Given the description of an element on the screen output the (x, y) to click on. 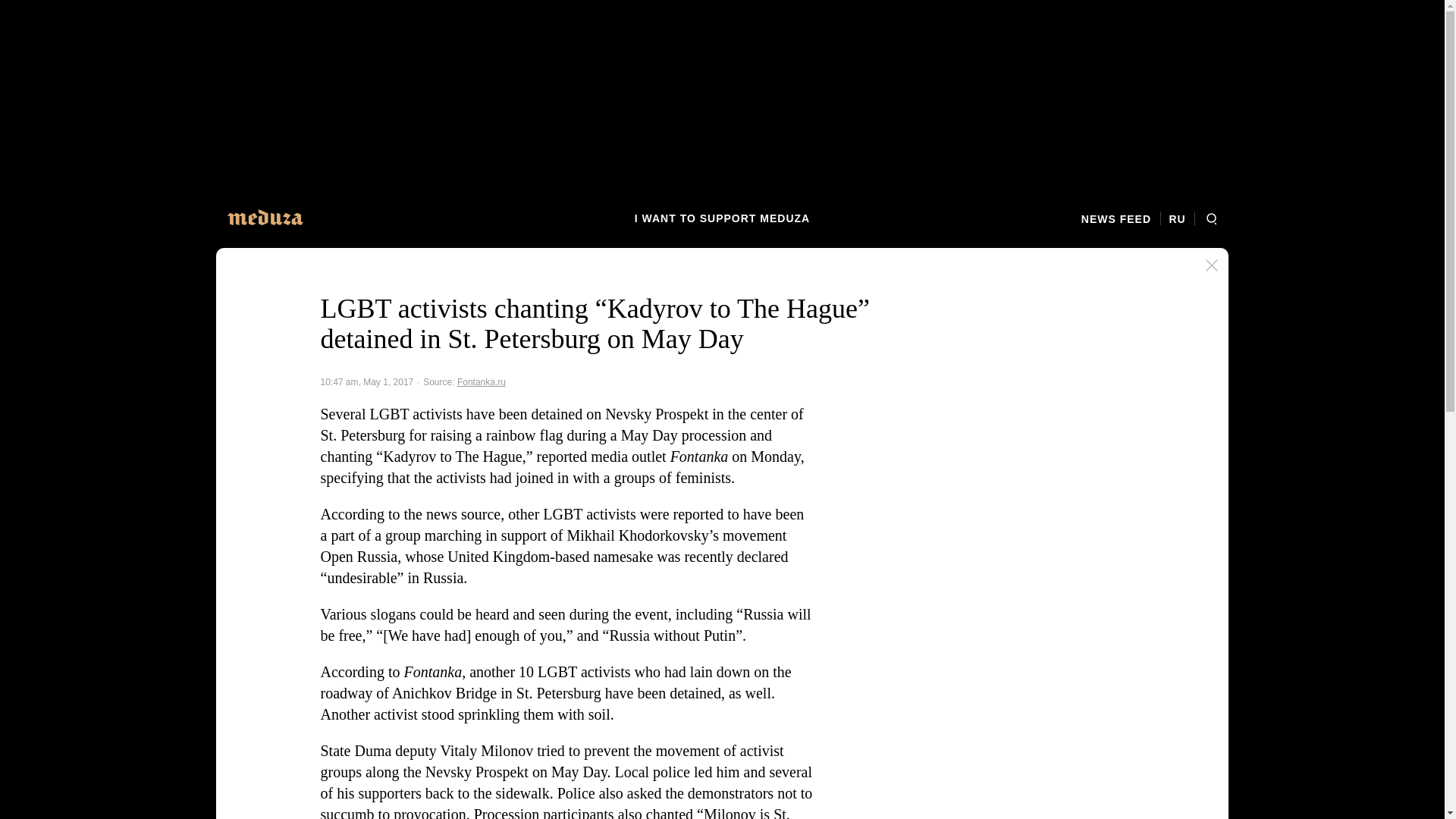
Fontanka.ru (481, 381)
RU (1176, 218)
I WANT TO SUPPORT MEDUZA (722, 218)
NEWS FEED (1120, 218)
